Given the description of an element on the screen output the (x, y) to click on. 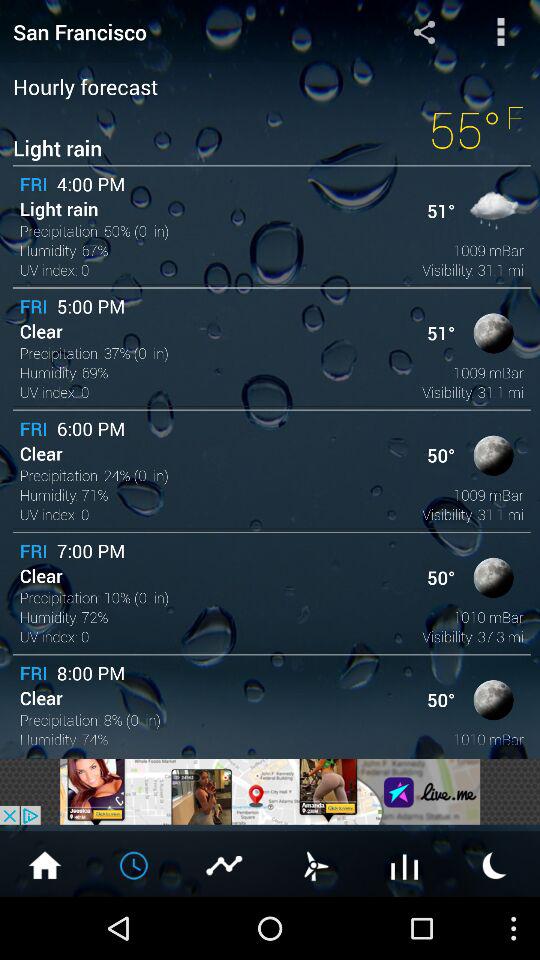
return to home screen (45, 864)
